Given the description of an element on the screen output the (x, y) to click on. 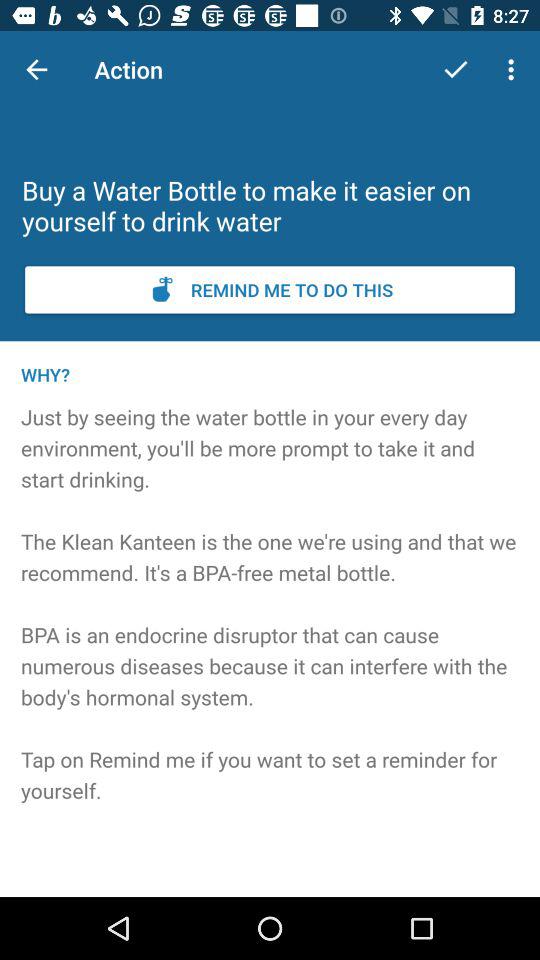
choose the item at the center (270, 631)
